Given the description of an element on the screen output the (x, y) to click on. 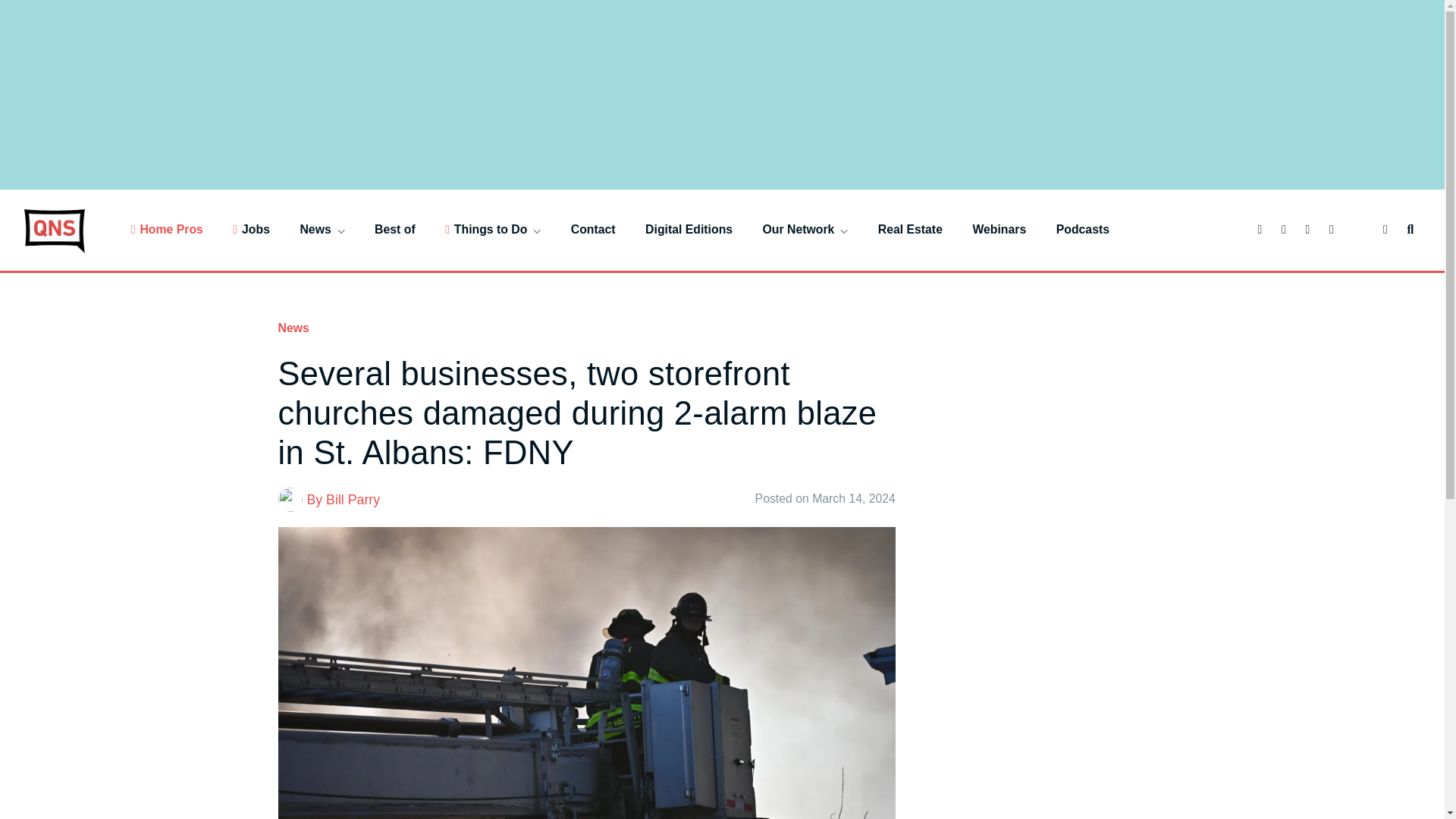
Jobs (250, 228)
Home Pros (167, 228)
Real Estate (909, 228)
News (321, 228)
Webinars (999, 228)
Best of (394, 228)
Podcasts (1083, 228)
Contact (592, 228)
Posts by Bill Parry (353, 499)
Our Network (805, 228)
Things to Do (492, 228)
Digital Editions (688, 228)
